Given the description of an element on the screen output the (x, y) to click on. 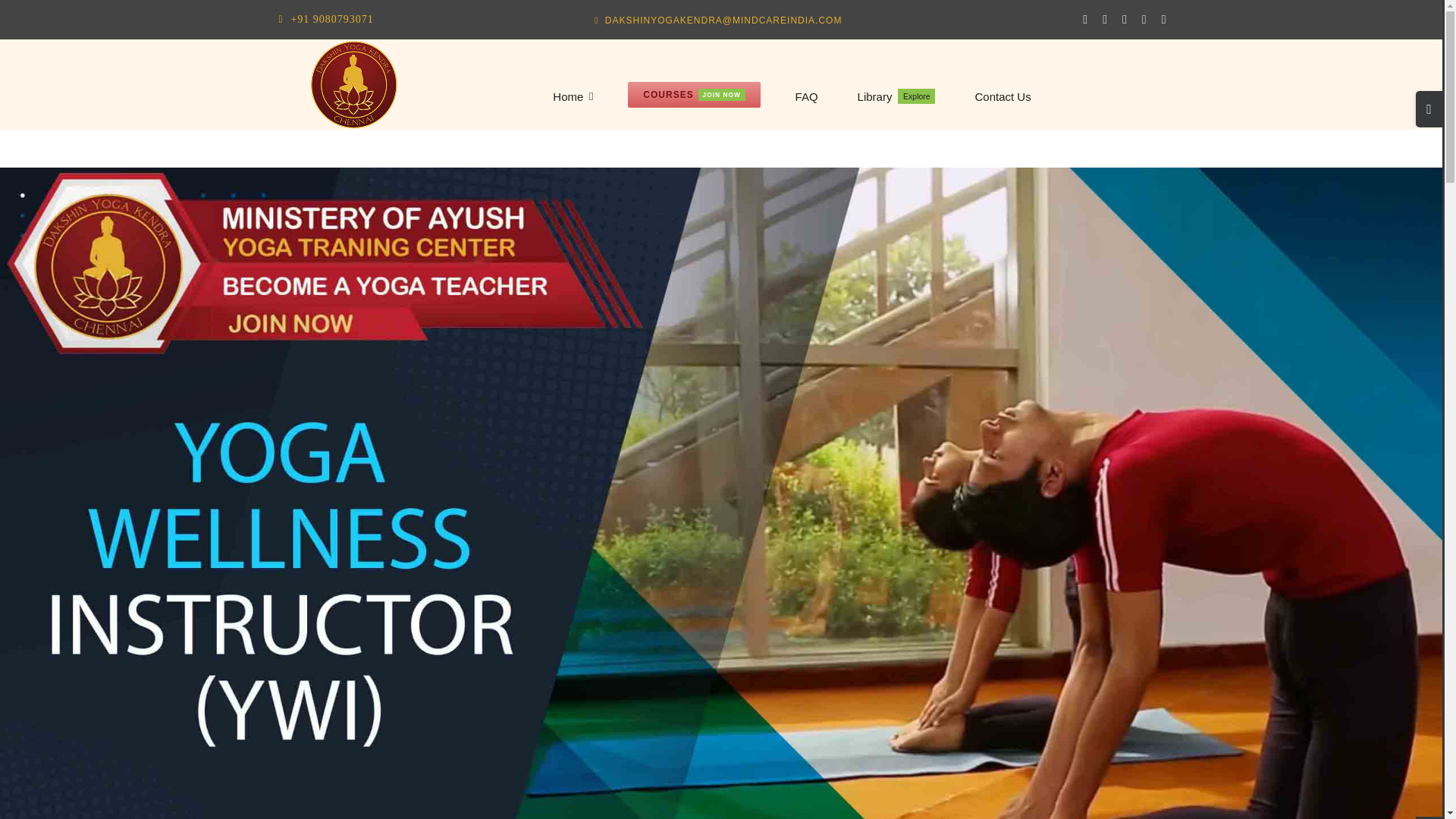
Contact Us (693, 94)
Home (1002, 96)
FAQ (572, 96)
